Given the description of an element on the screen output the (x, y) to click on. 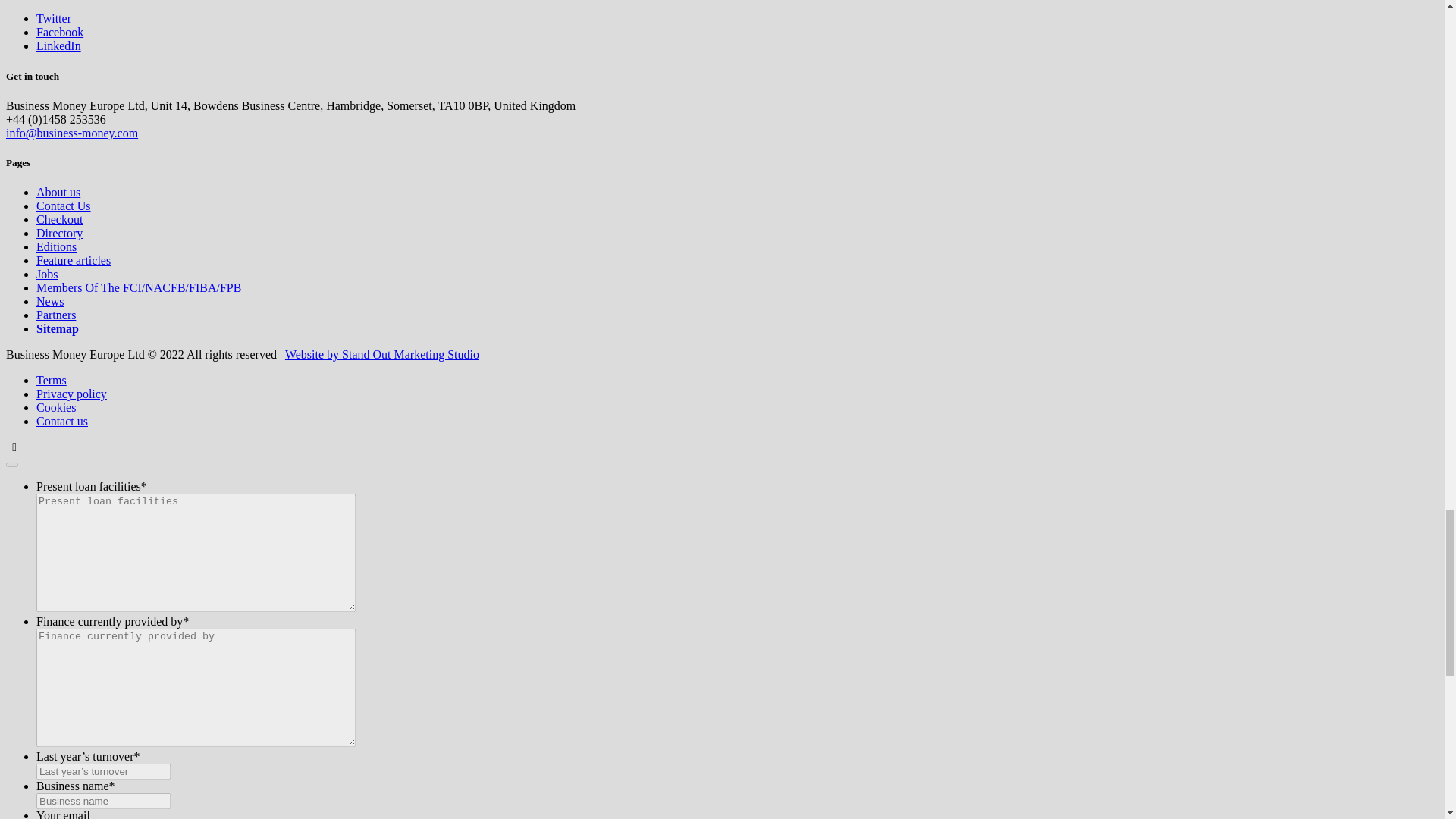
Facebook (59, 31)
